Given the description of an element on the screen output the (x, y) to click on. 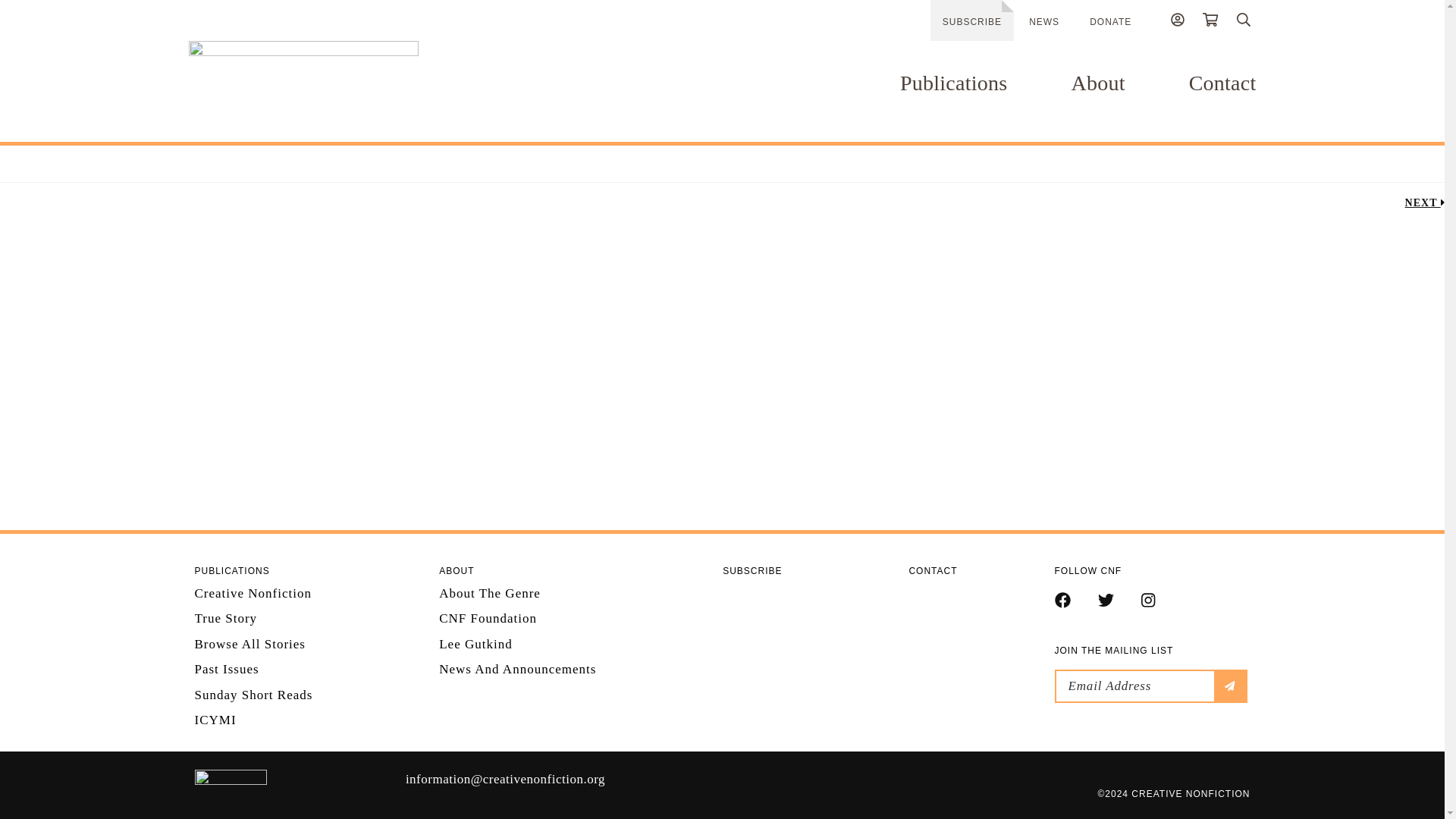
SUBSCRIBE (971, 20)
Contact (1222, 83)
Creative Nonfiction (347, 75)
Creative Nonfiction (298, 783)
DONATE (1110, 21)
NEWS (1044, 21)
About (1097, 83)
Publications (953, 83)
